Given the description of an element on the screen output the (x, y) to click on. 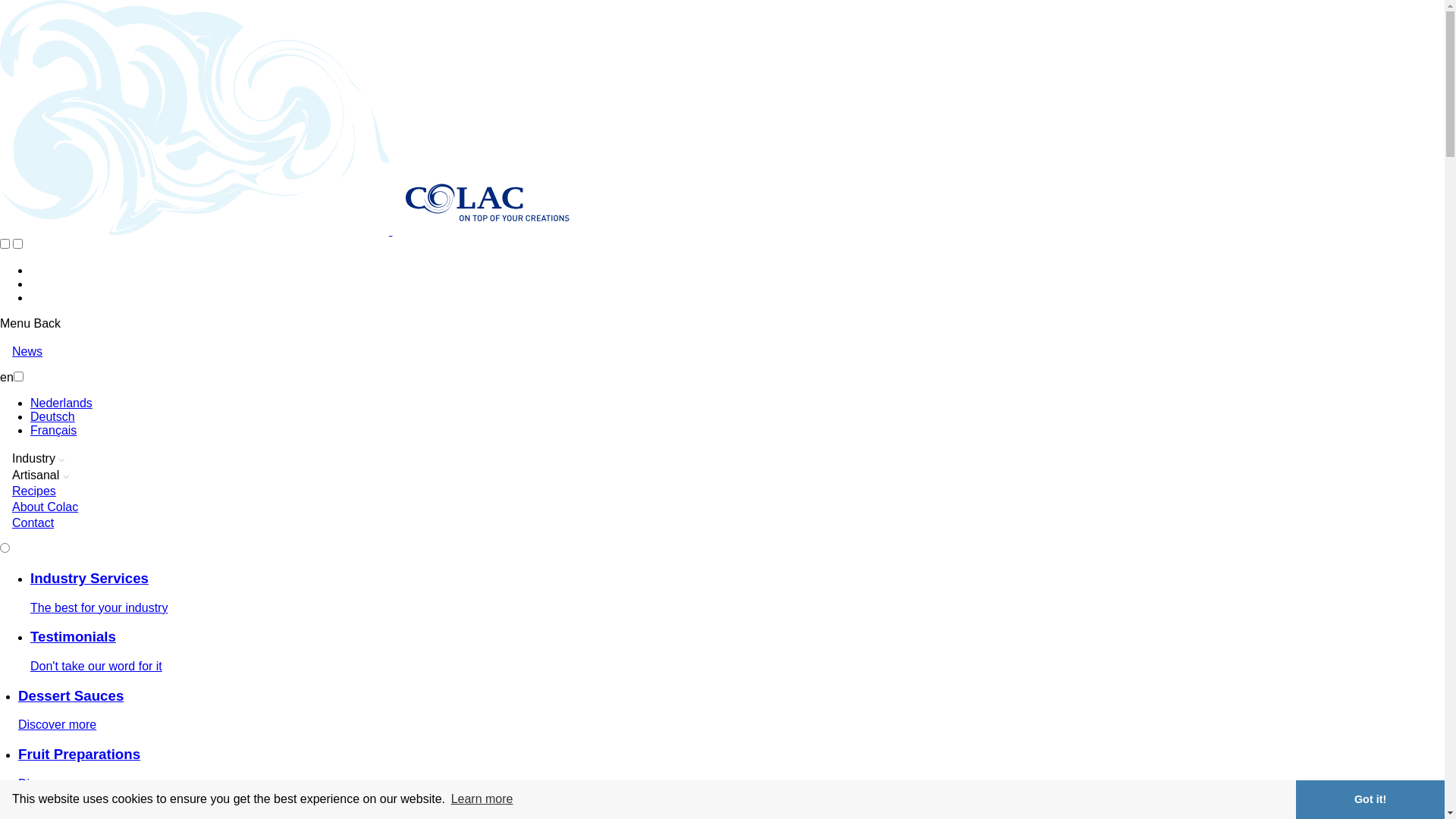
Deutsch Element type: text (52, 416)
Contact Element type: text (32, 522)
Testimonials
Don't take our word for it Element type: text (737, 650)
Dessert Sauces
Discover more Element type: text (731, 709)
Skip to main content Element type: text (0, 0)
News Element type: text (27, 351)
About Colac Element type: text (45, 506)
Industry Services
The best for your industry Element type: text (737, 592)
Learn more Element type: text (481, 798)
Recipes Element type: text (34, 490)
Fruit Preparations
Discover more Element type: text (731, 768)
Nederlands Element type: text (61, 402)
